Given the description of an element on the screen output the (x, y) to click on. 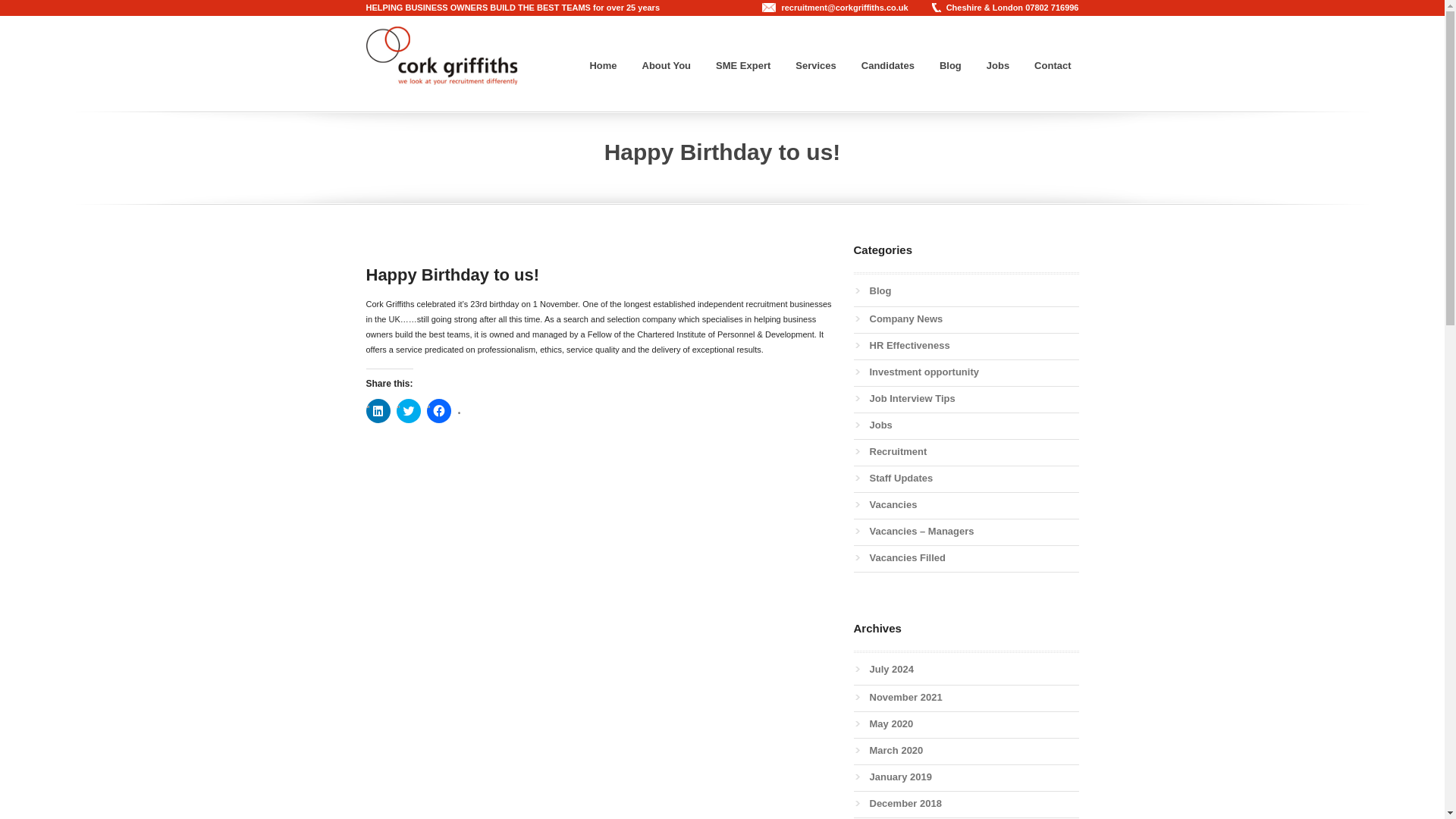
Home (602, 65)
Job Interview Tips (912, 398)
Jobs (997, 65)
Vacancies (893, 504)
July 2024 (891, 668)
Blog (950, 65)
HR Effectiveness (909, 345)
About You (666, 65)
Candidates (887, 65)
Staff Updates (901, 478)
Click to share on Twitter (408, 410)
Contact (1052, 65)
Click to share on LinkedIn (377, 410)
Investment opportunity (923, 371)
SME Expert (742, 65)
